Given the description of an element on the screen output the (x, y) to click on. 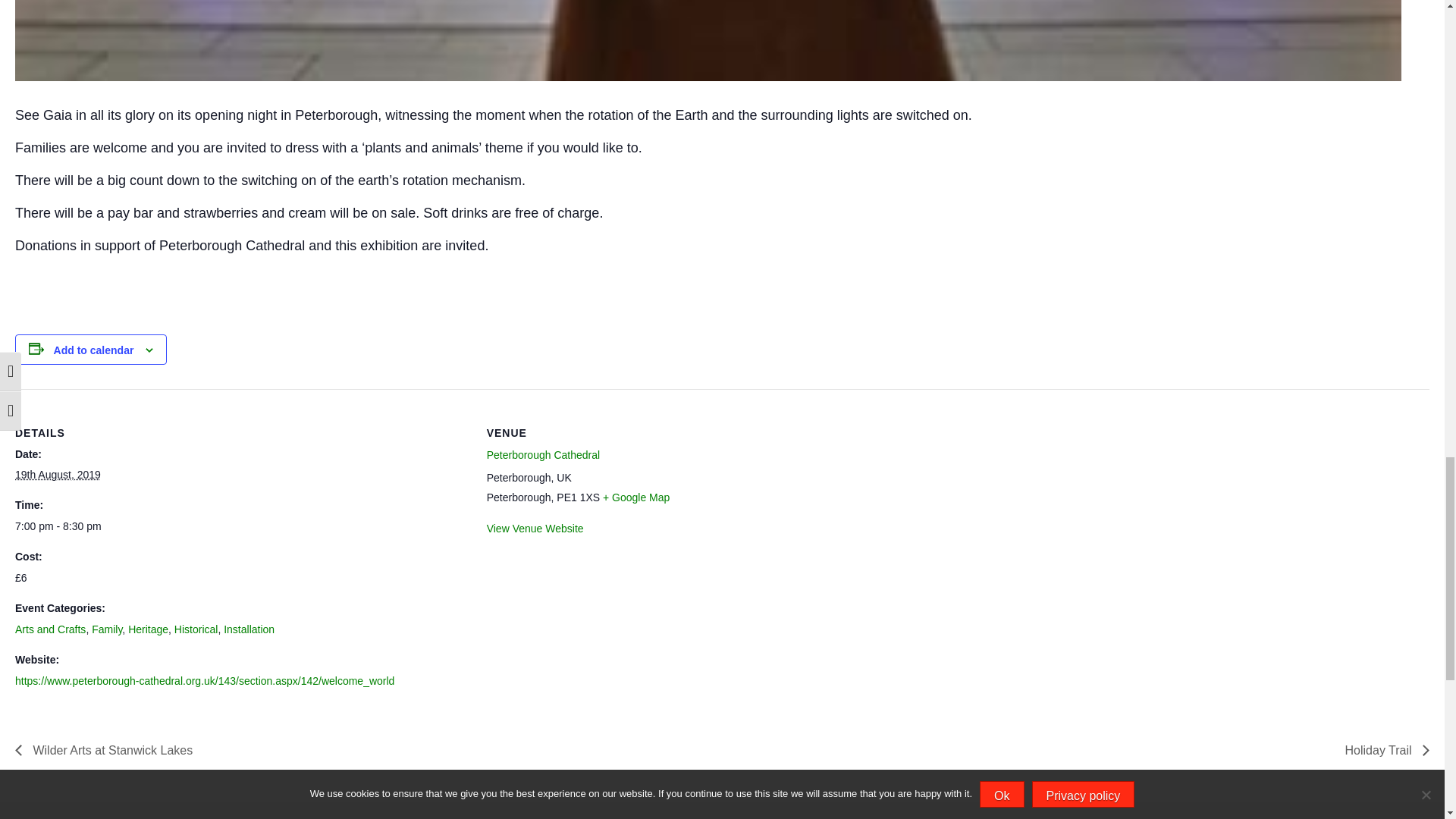
2019-08-19 (57, 474)
2019-08-19 (241, 526)
